Given the description of an element on the screen output the (x, y) to click on. 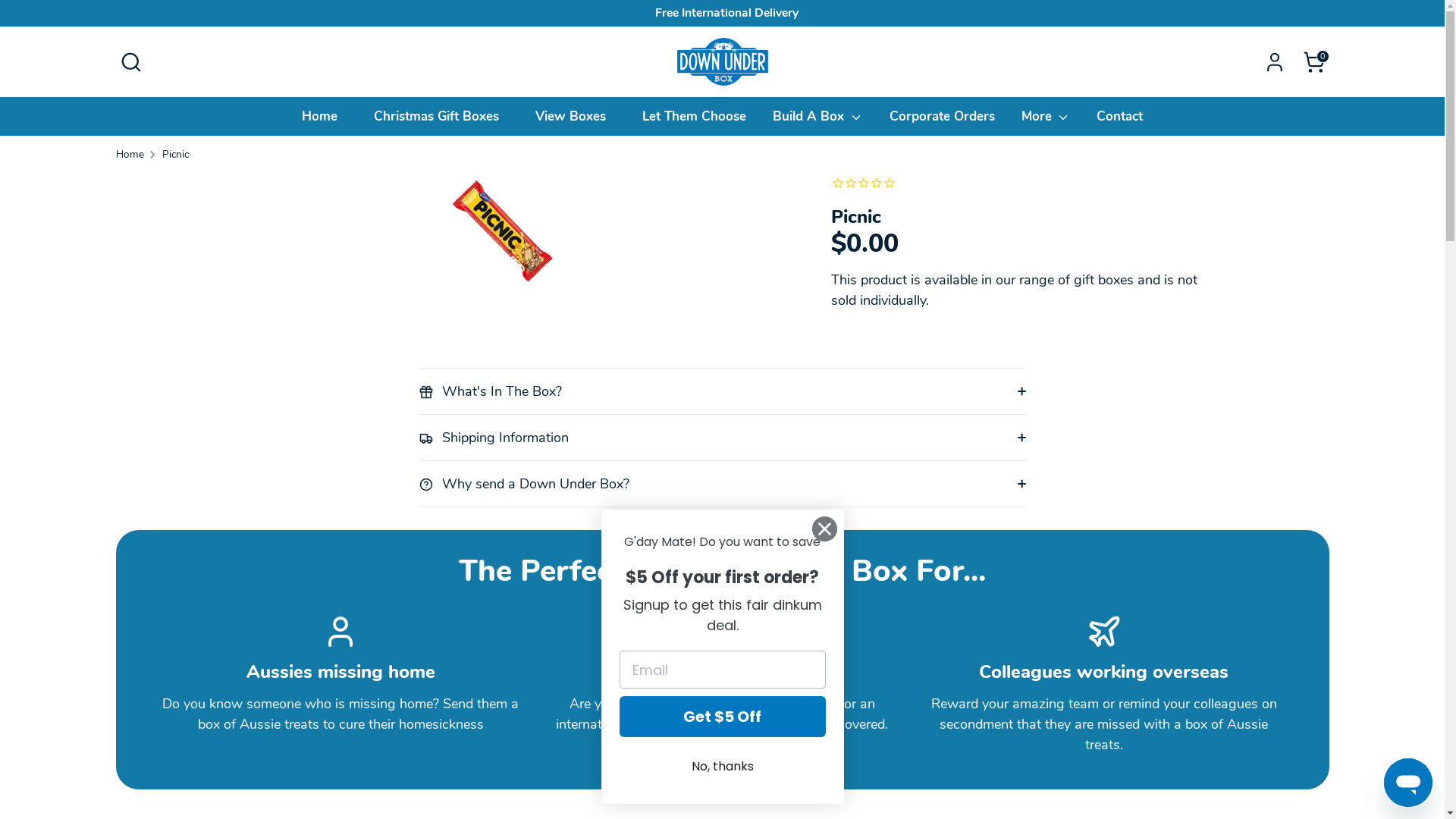
Submit Element type: text (56, 17)
Build Your Own XL Box Element type: text (495, 436)
Aussie Pantry Element type: text (467, 350)
Get $5 Off Element type: text (721, 716)
Standard Aussie Christmas Care Package Element type: text (551, 620)
AUSTRALIA (AUD $) Element type: text (1253, 731)
Down Under Box Element type: text (241, 776)
Account Login Element type: text (456, 753)
Blog Element type: text (619, 753)
Premium Aussie Care Package Element type: text (517, 464)
Corporate Gift Hampers Element type: text (356, 753)
Picnic Element type: text (175, 154)
Search Element type: text (130, 62)
Shipping Information Element type: text (549, 753)
Powered by Shopify Element type: text (331, 776)
Home Element type: text (129, 154)
Chocolate Lovers Element type: text (476, 379)
Build Your Own Taste Of Home Box Element type: text (533, 407)
Aussie Classics Element type: text (471, 322)
Corporate Orders Element type: text (942, 120)
No, thanks Element type: text (721, 766)
Event & Conference Gifts Element type: text (233, 753)
Build A Box Element type: text (817, 120)
Contact Element type: text (1119, 120)
SIGN UP Element type: text (892, 189)
"Build Your Own" Aussie Christmas Care Package Element type: text (548, 503)
Home Element type: text (319, 120)
Extra Large Aussie Christmas Care Package Element type: text (558, 592)
0 Element type: text (1313, 62)
More Element type: text (1046, 120)
About Us Element type: text (142, 753)
Button to launch messaging window Element type: hover (1407, 782)
